Given the description of an element on the screen output the (x, y) to click on. 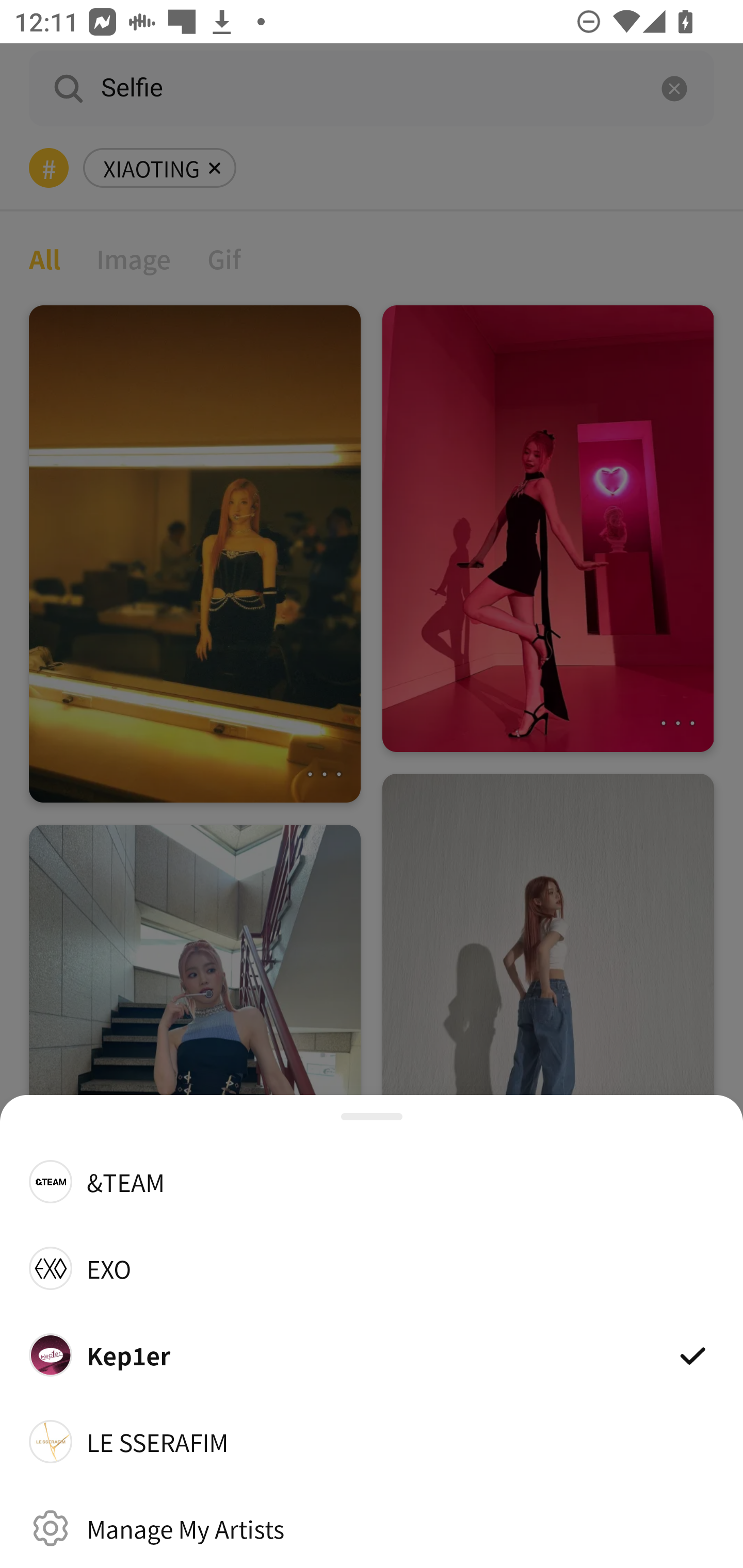
&TEAM (371, 1181)
EXO (371, 1268)
Kep1er (371, 1354)
LE SSERAFIM (371, 1441)
Manage My Artists (371, 1527)
